Given the description of an element on the screen output the (x, y) to click on. 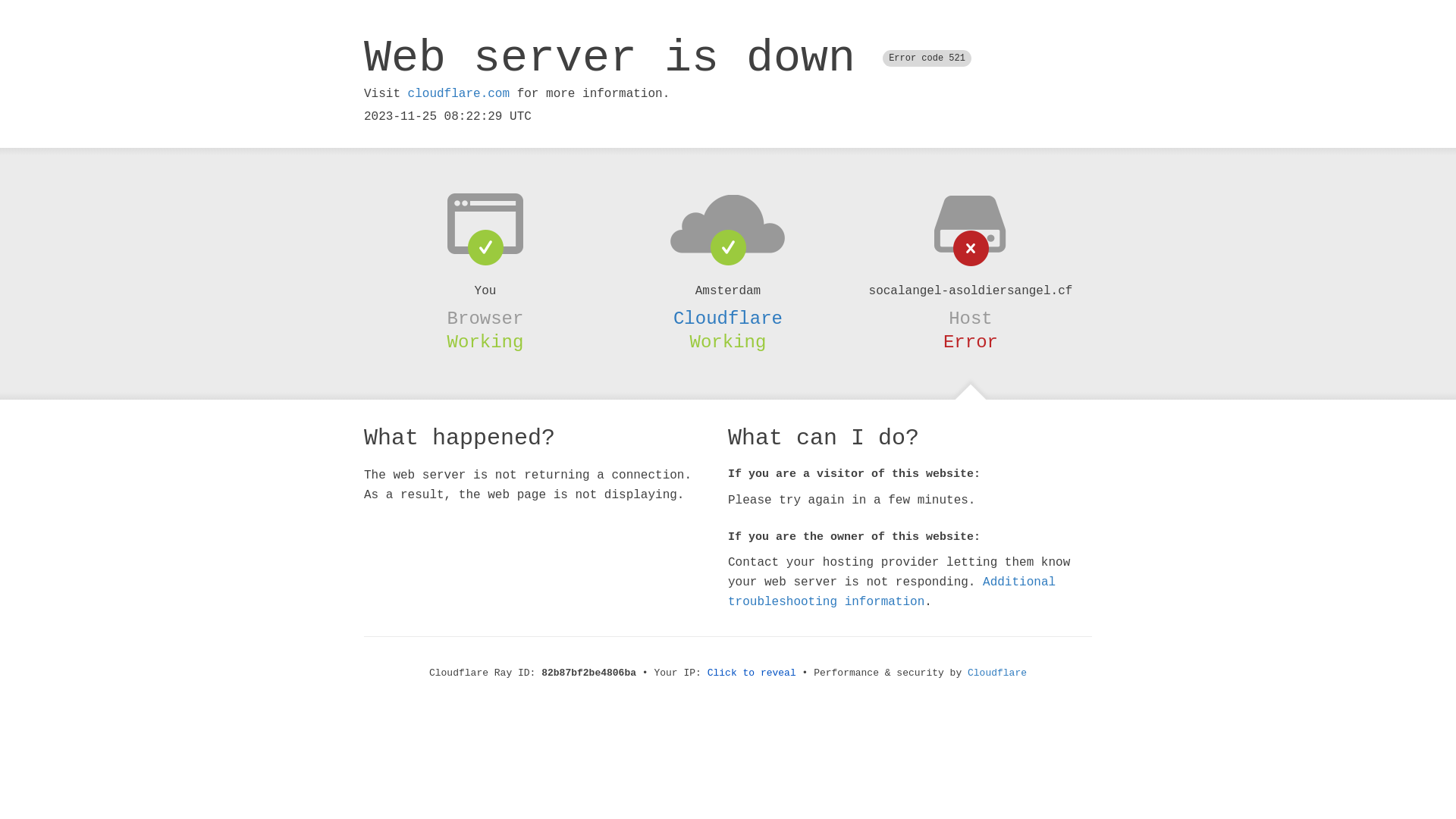
Cloudflare Element type: text (727, 318)
Click to reveal Element type: text (751, 672)
Cloudflare Element type: text (996, 672)
Additional troubleshooting information Element type: text (891, 591)
cloudflare.com Element type: text (458, 93)
